Given the description of an element on the screen output the (x, y) to click on. 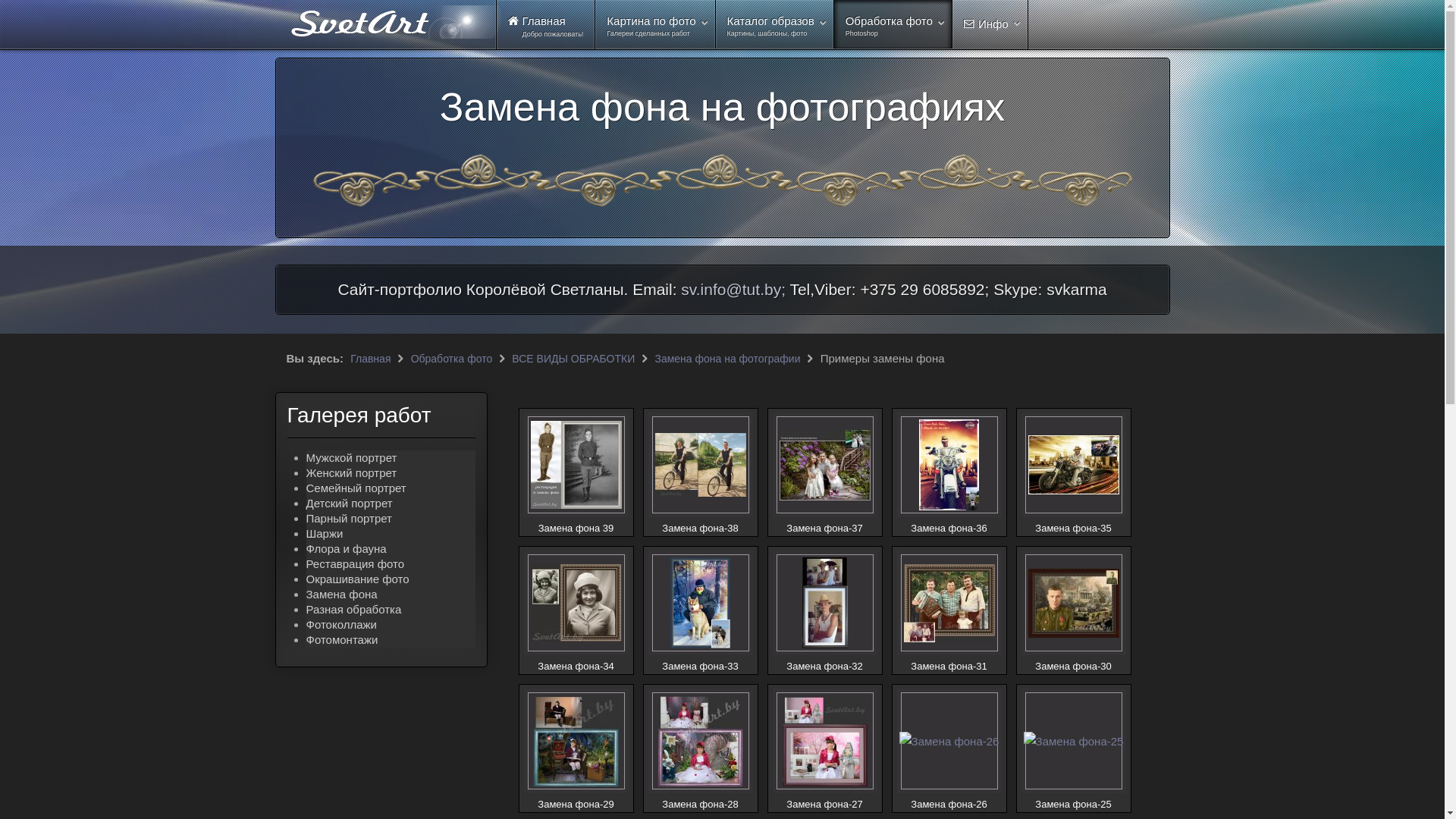
sv.info@tut.by; Element type: text (732, 289)
